Given the description of an element on the screen output the (x, y) to click on. 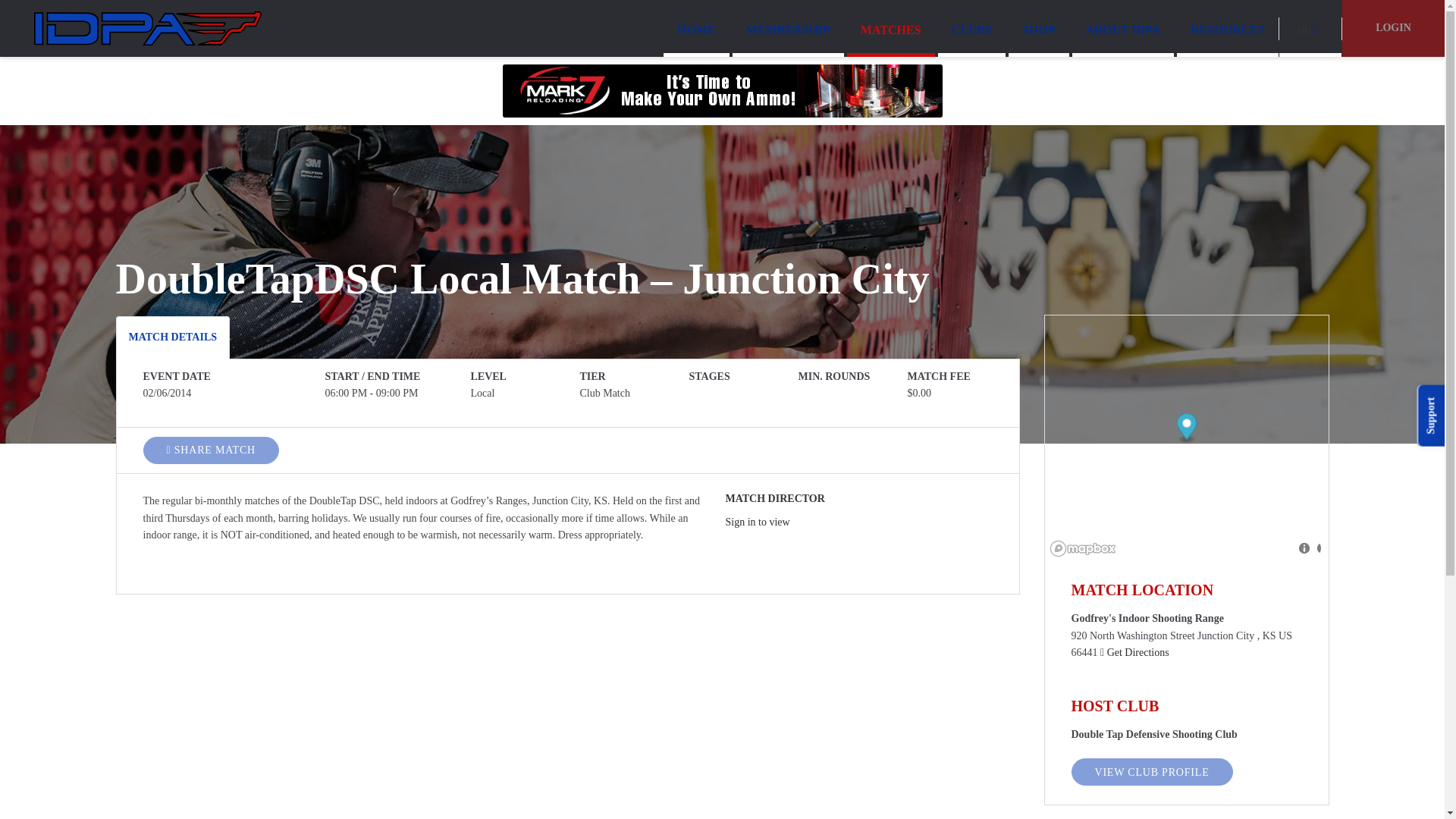
LOGIN (1393, 26)
Toggle attribution (1307, 547)
HOME (696, 26)
LOGIN (1393, 28)
ABOUT IDPA (1122, 26)
CLUBS (971, 26)
MATCHES (890, 26)
RESOURCES (1227, 26)
SHOP (1038, 26)
MEMBERSHIP (788, 26)
